Given the description of an element on the screen output the (x, y) to click on. 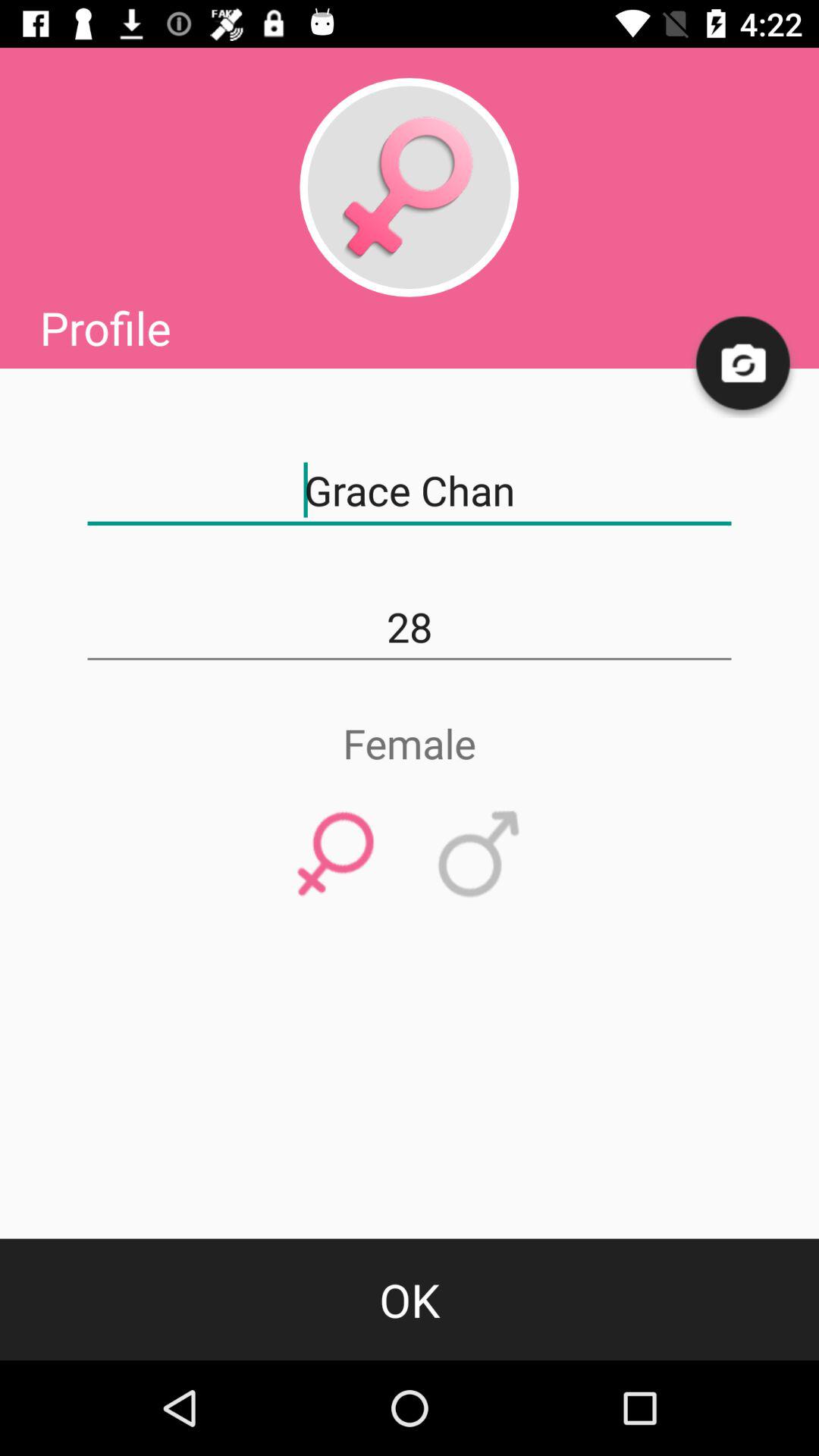
toggle gender option (408, 186)
